Given the description of an element on the screen output the (x, y) to click on. 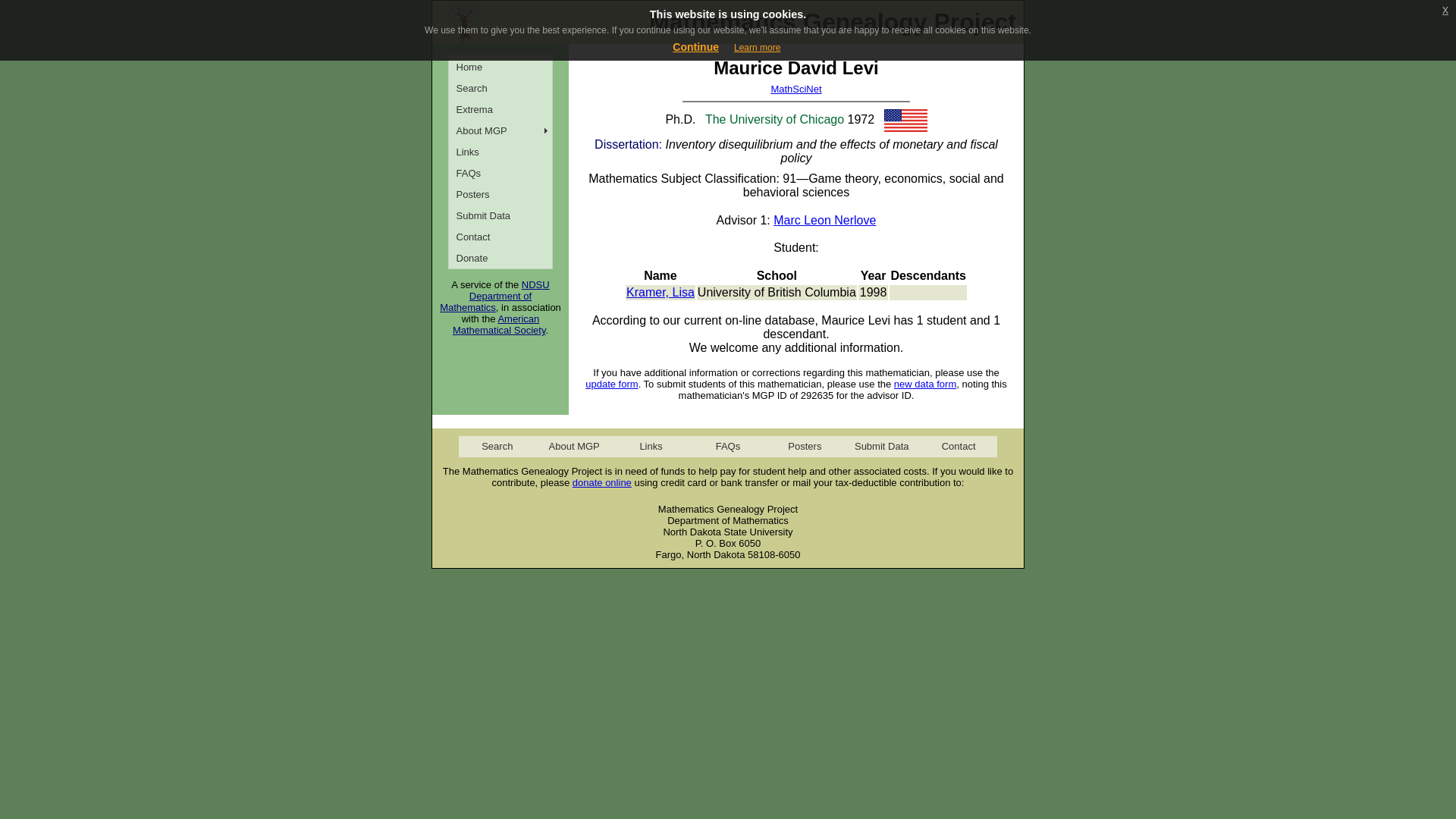
Contact (500, 236)
UnitedStates (905, 119)
Search (496, 446)
Donate (500, 257)
FAQs (500, 172)
Marc Leon Nerlove (824, 219)
Links (500, 151)
NDSU (535, 284)
Frequently Asked Questions (726, 446)
new data form (924, 383)
Posters (500, 193)
Home (500, 66)
About MGP (500, 129)
donate online (601, 482)
Frequently Asked Questions (500, 172)
